Given the description of an element on the screen output the (x, y) to click on. 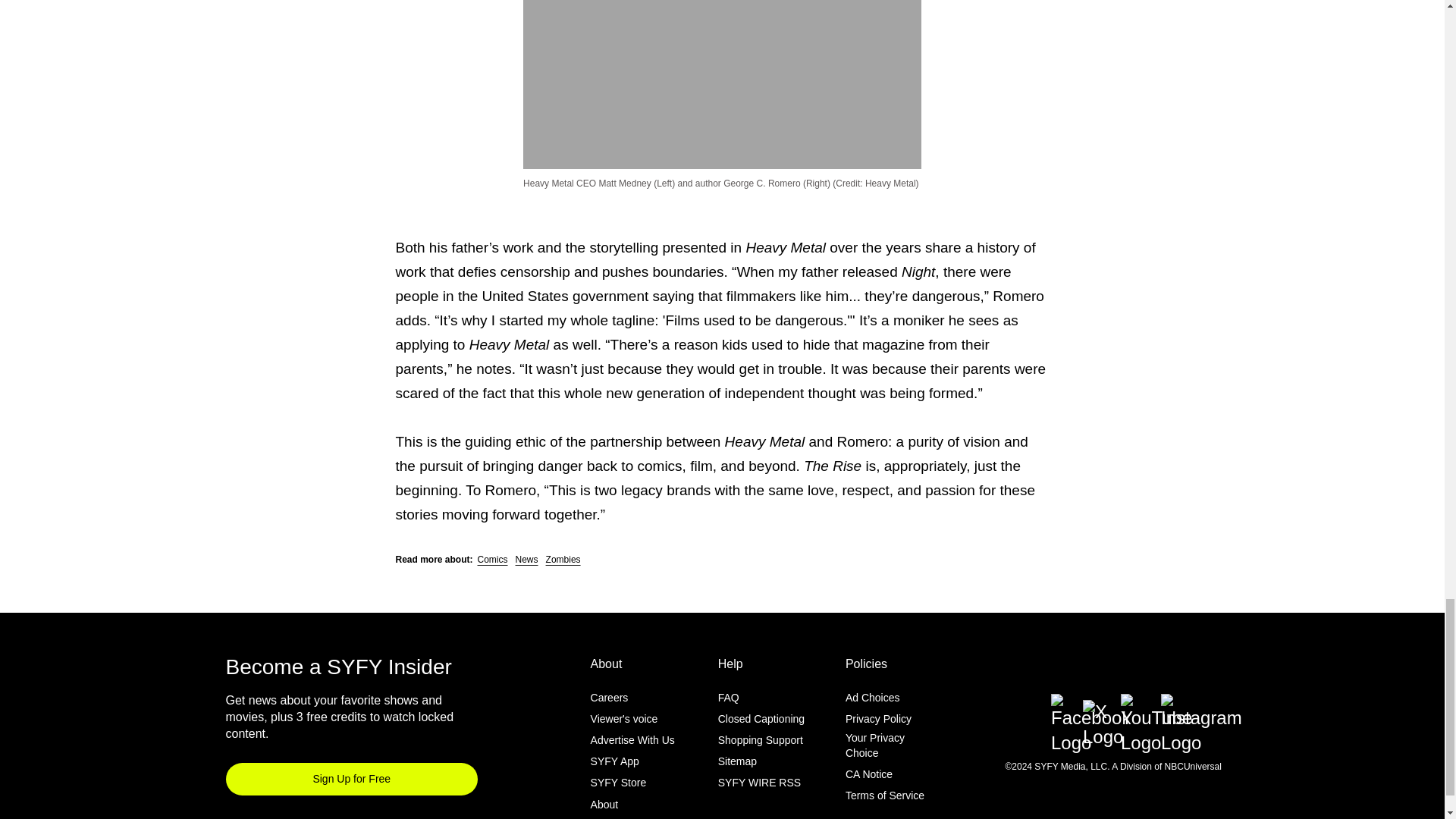
News (526, 559)
Comics (492, 559)
Advertise With Us (633, 739)
Zombies (563, 559)
